Given the description of an element on the screen output the (x, y) to click on. 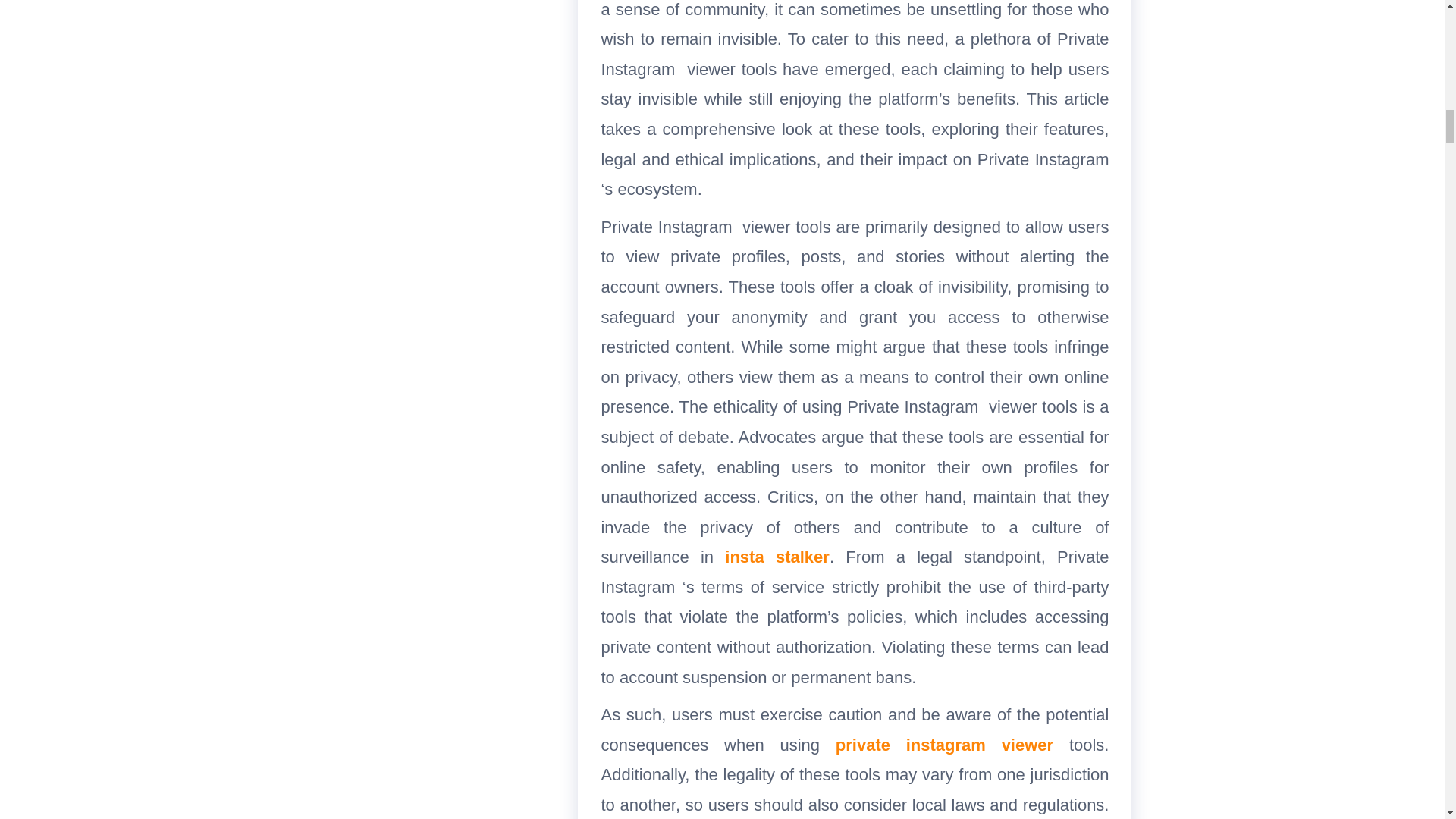
insta stalker (777, 556)
private instagram viewer (943, 744)
